Given the description of an element on the screen output the (x, y) to click on. 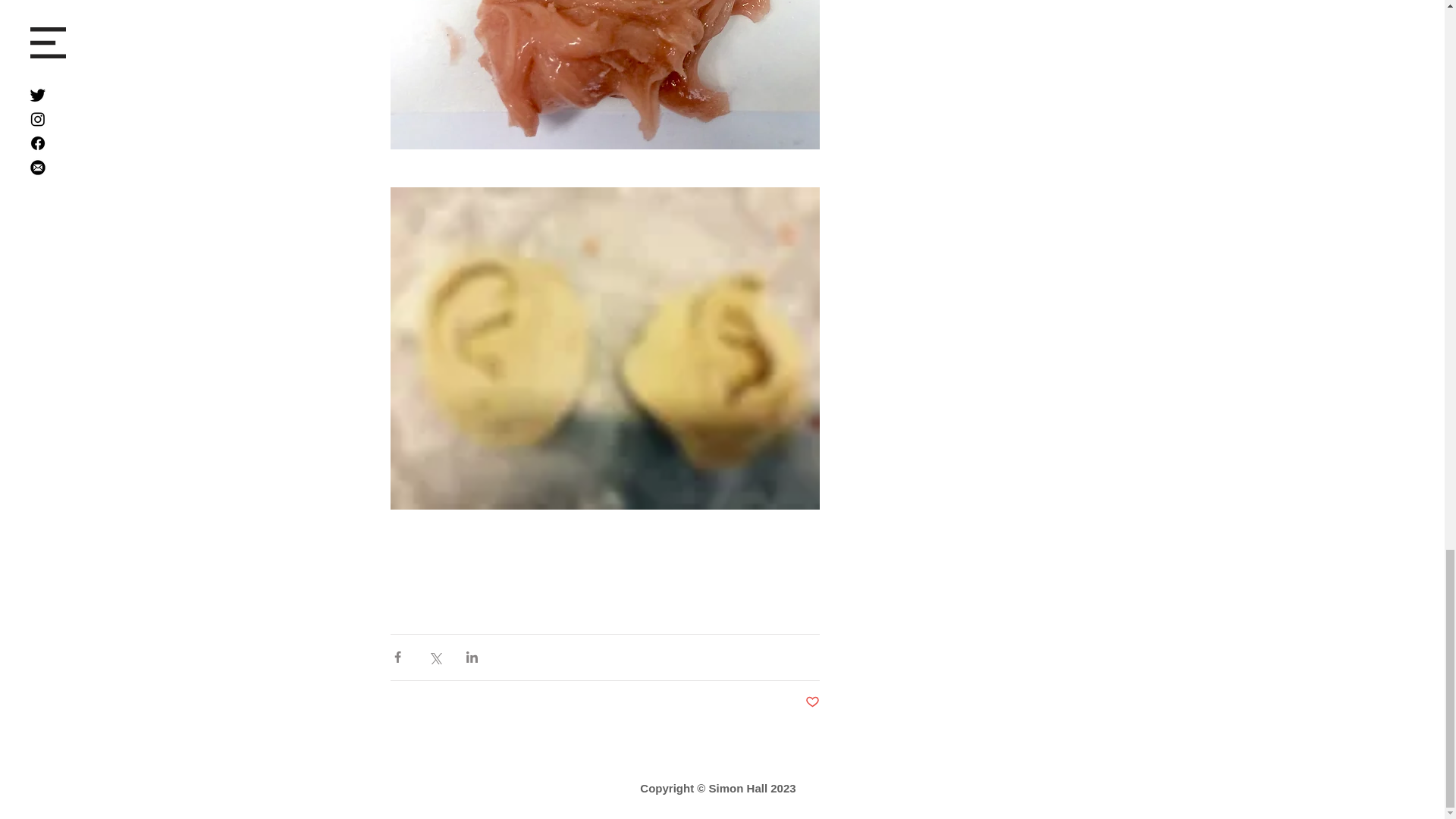
Post not marked as liked (812, 702)
